Given the description of an element on the screen output the (x, y) to click on. 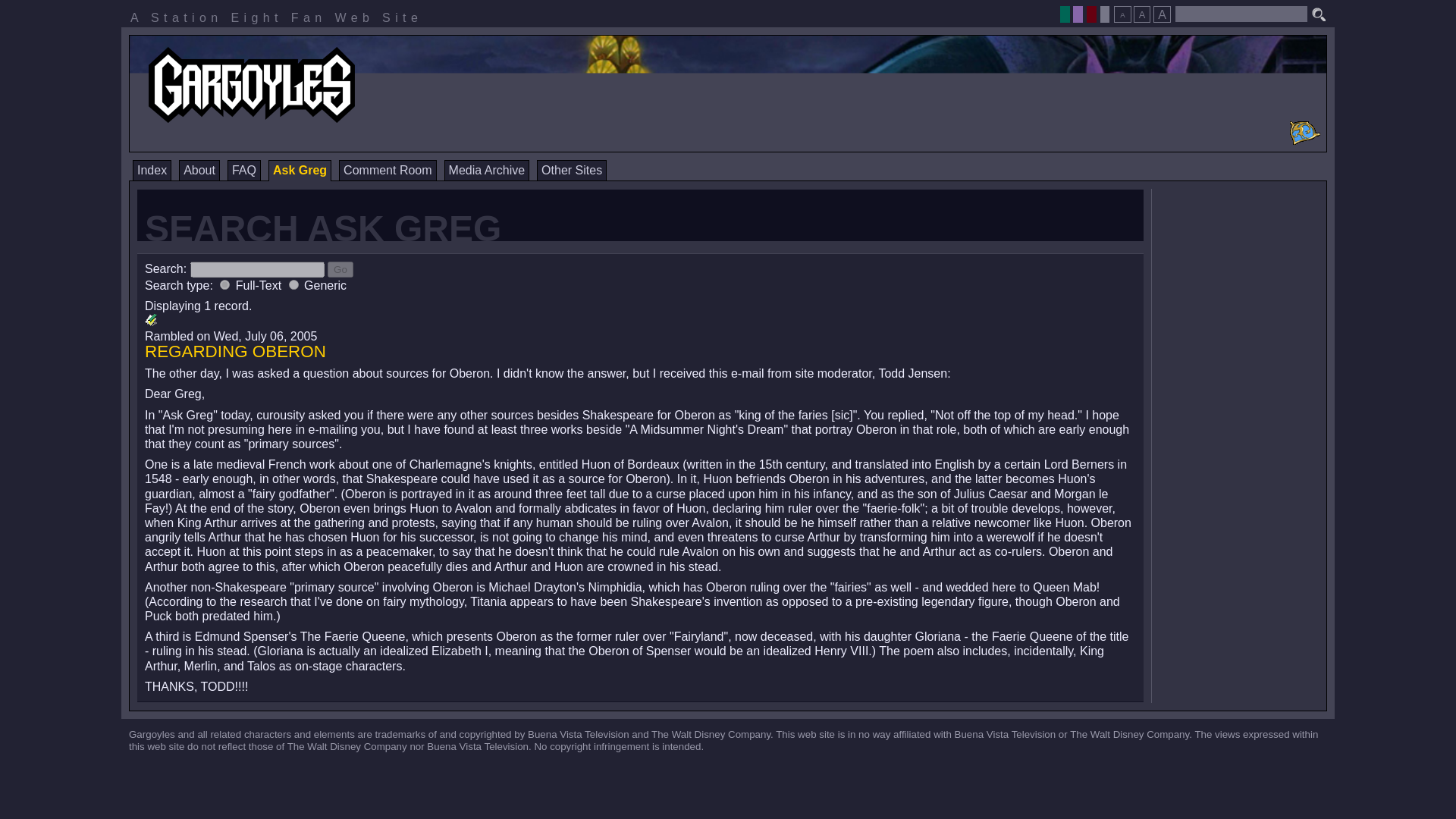
A (1122, 13)
FullText (224, 284)
Ask Greg (299, 169)
Large Font Size (1161, 13)
Go (340, 269)
A (1142, 13)
A (1161, 13)
Select the font size the best suits your needs. (1141, 9)
Small Font Size (1122, 13)
Index (151, 169)
Generic (293, 284)
Media Archive (486, 169)
Comment Room (387, 169)
FAQ (243, 169)
About (199, 169)
